Given the description of an element on the screen output the (x, y) to click on. 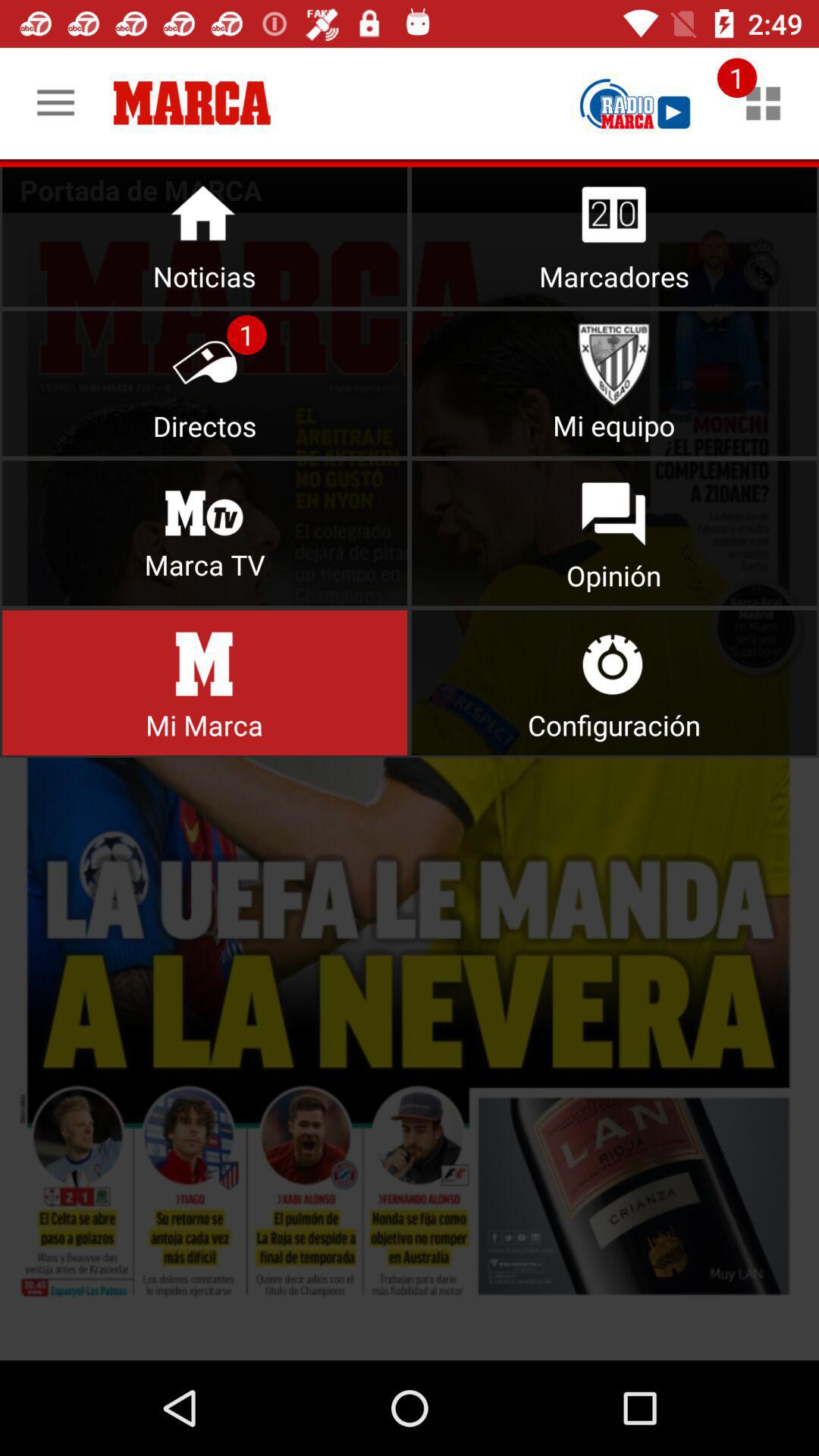
entire page (409, 786)
